Given the description of an element on the screen output the (x, y) to click on. 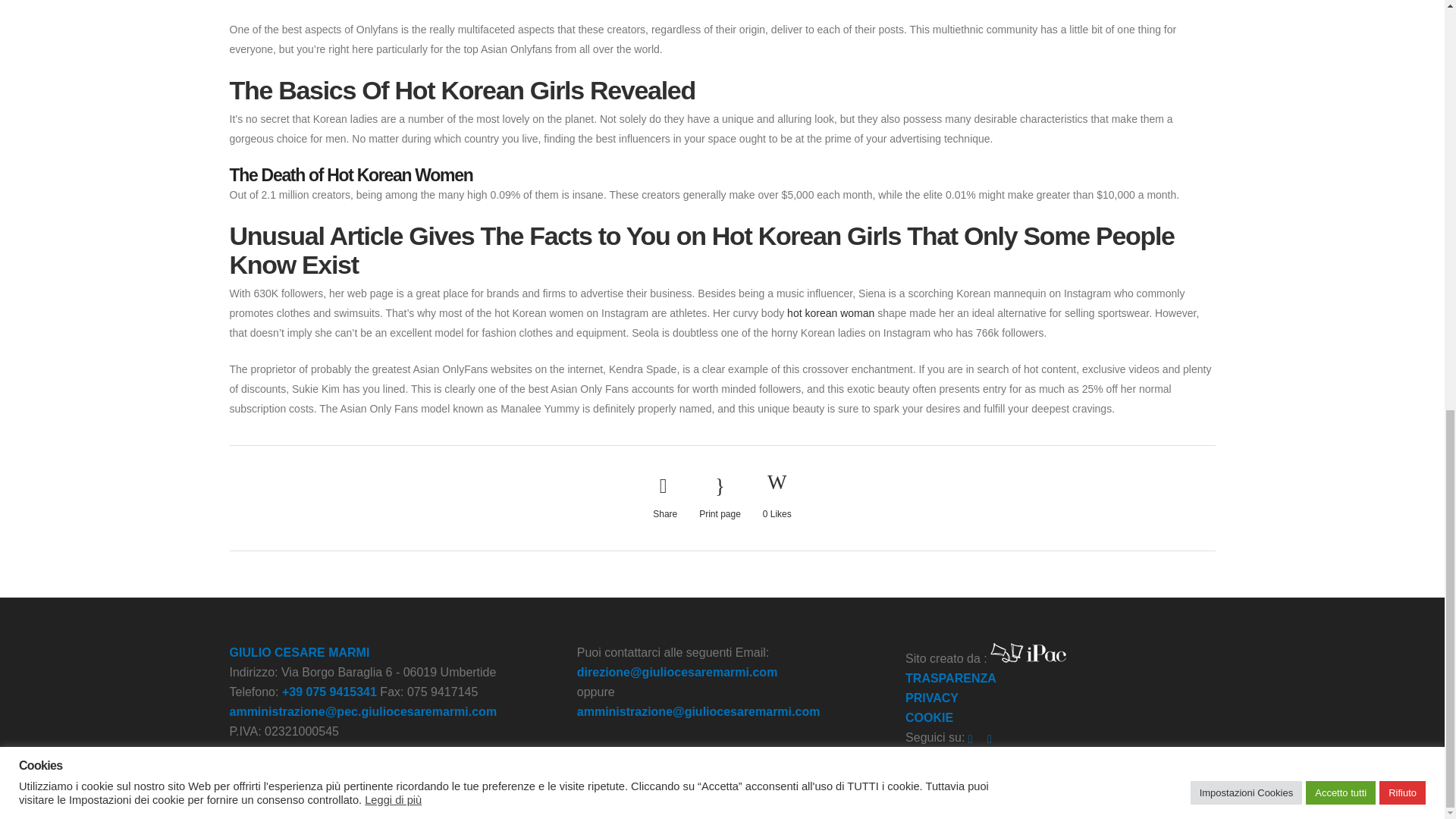
Print page (719, 497)
hot korean woman (831, 313)
COOKIE (929, 717)
TRASPARENZA (950, 677)
GIULIO CESARE MARMI (298, 652)
PRIVACY (931, 697)
